Given the description of an element on the screen output the (x, y) to click on. 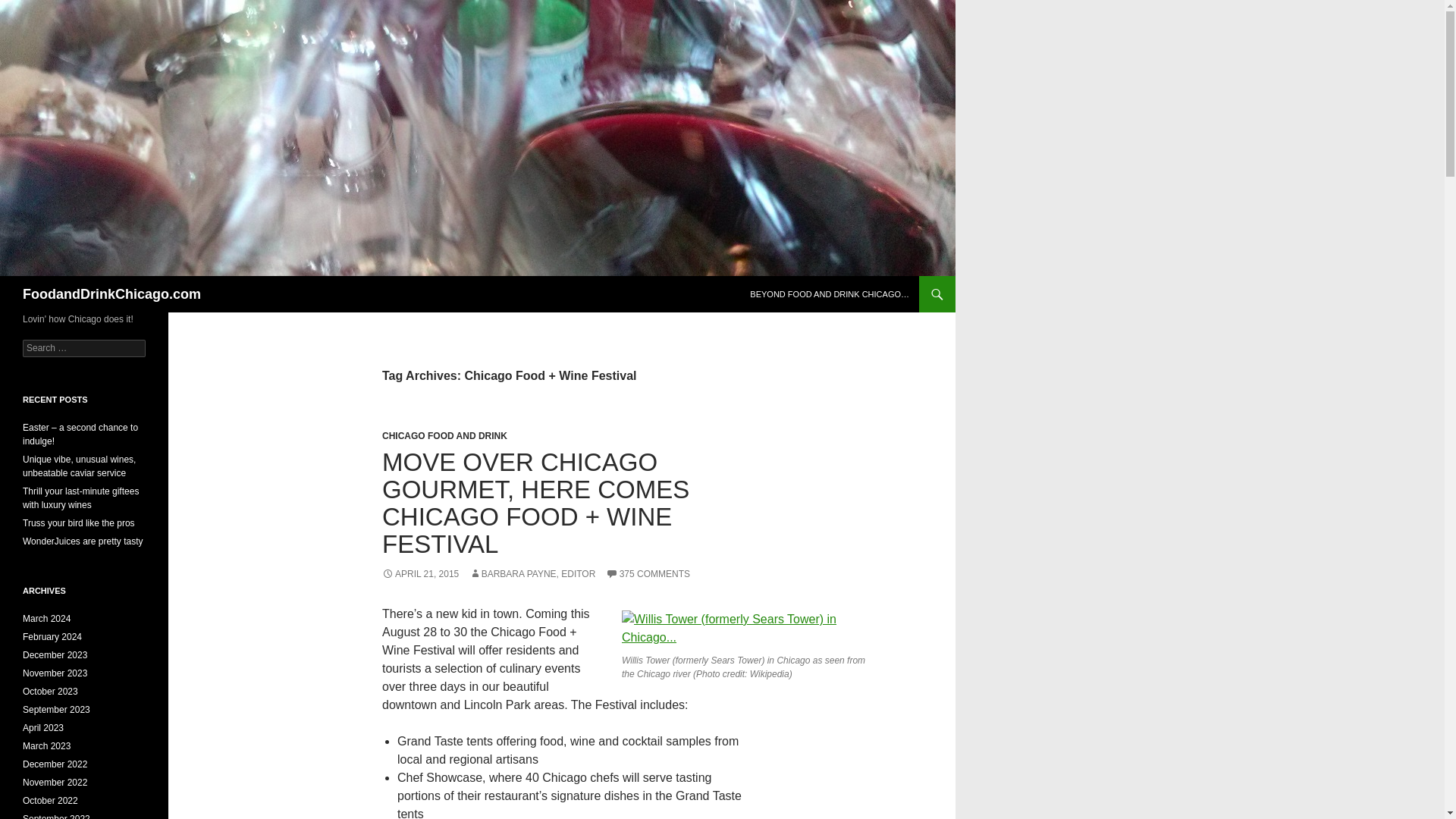
November 2022 (55, 782)
375 COMMENTS (647, 573)
September 2023 (56, 709)
December 2022 (55, 764)
March 2023 (46, 746)
CHICAGO FOOD AND DRINK (443, 435)
September 2022 (56, 816)
Truss your bird like the pros (79, 522)
October 2022 (50, 800)
